Given the description of an element on the screen output the (x, y) to click on. 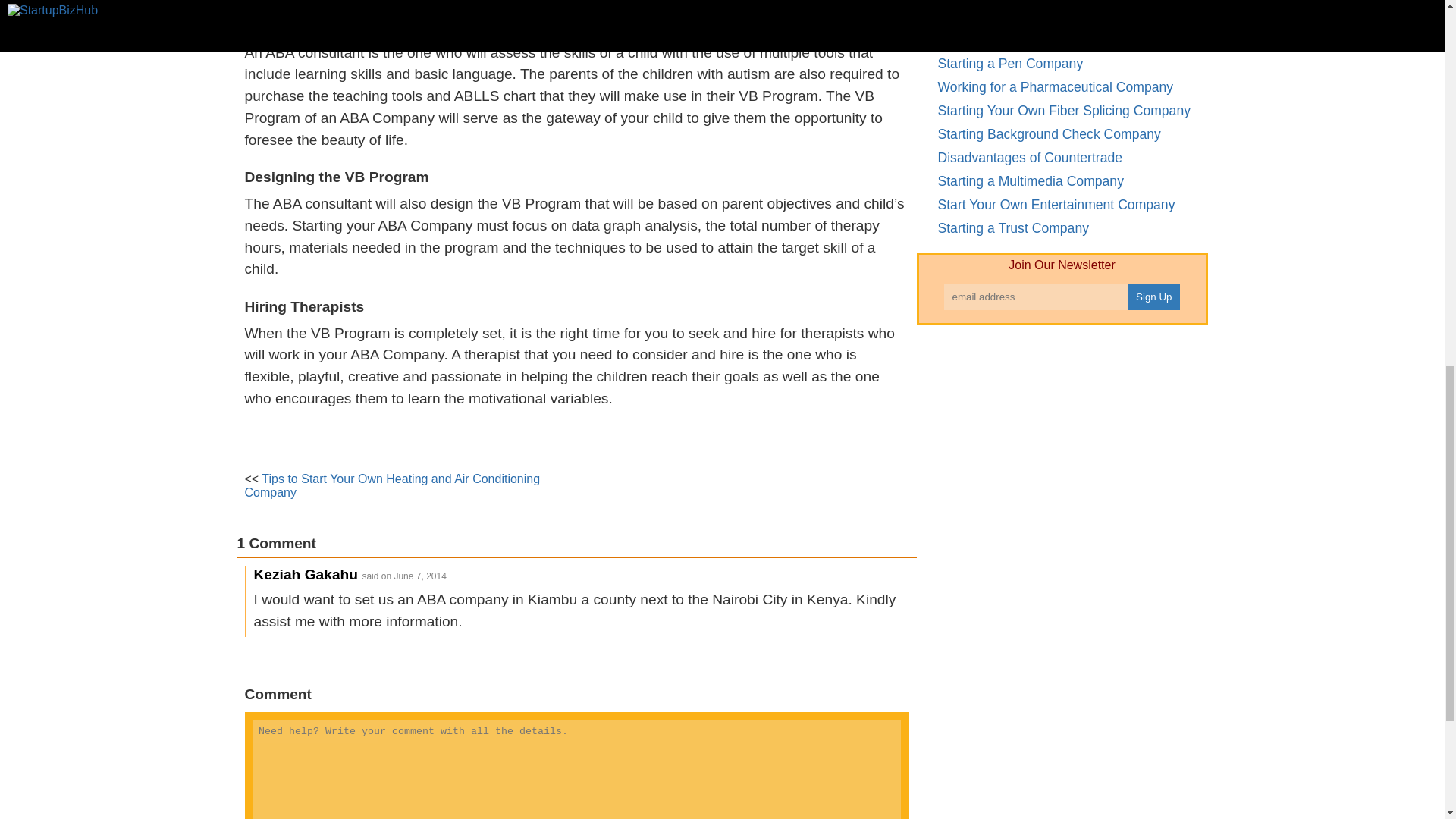
Starting a Pen Company (1010, 63)
Tips to Start Your Own Heating and Air Conditioning Company (392, 485)
Sign Up (1153, 296)
Working for a Pharmaceutical Company (1055, 87)
How to Open a Small Scale Industry (1044, 39)
